Given the description of an element on the screen output the (x, y) to click on. 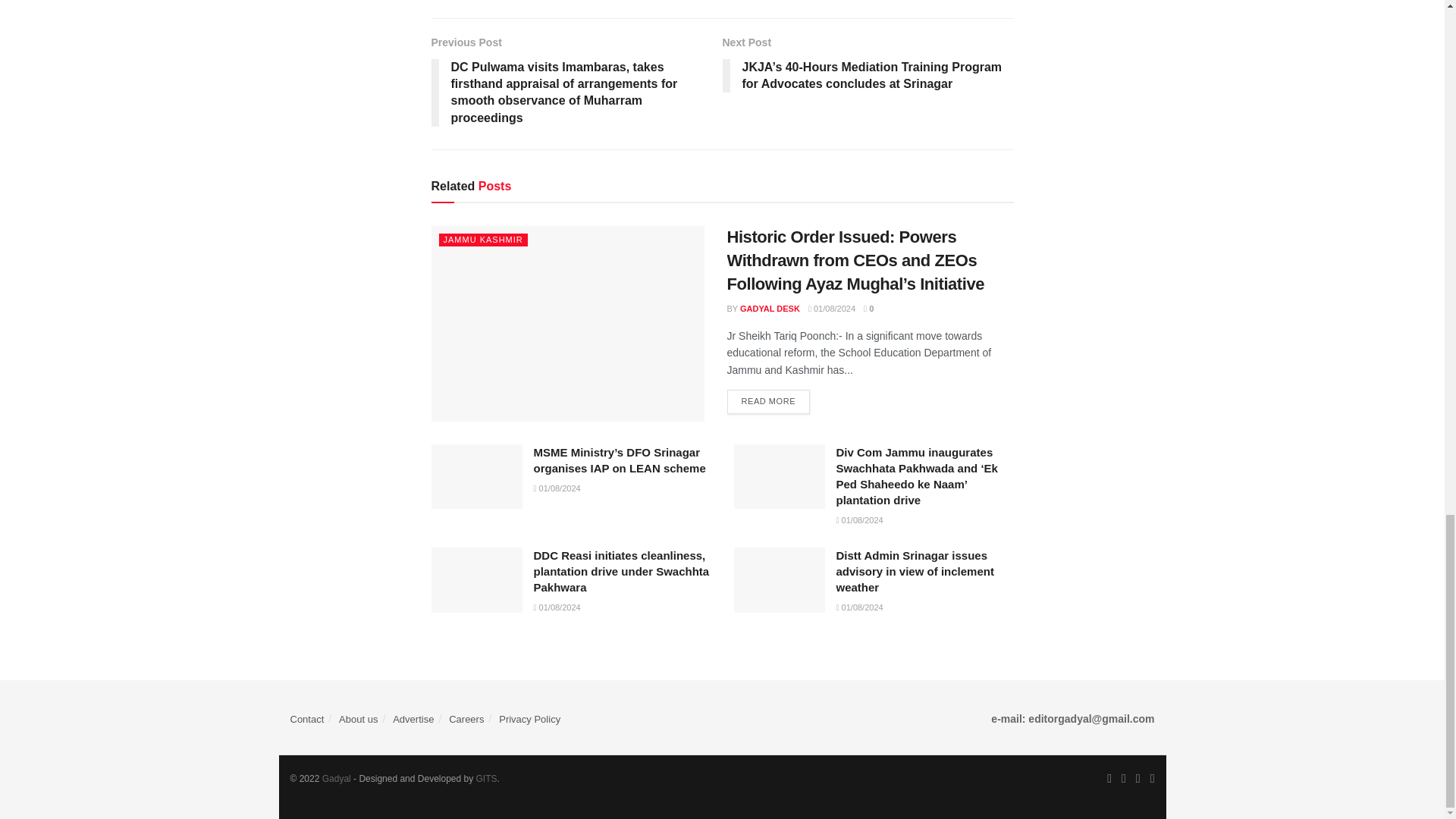
Daily Gadyal (335, 778)
Gabfire IT Solutions (486, 778)
